Given the description of an element on the screen output the (x, y) to click on. 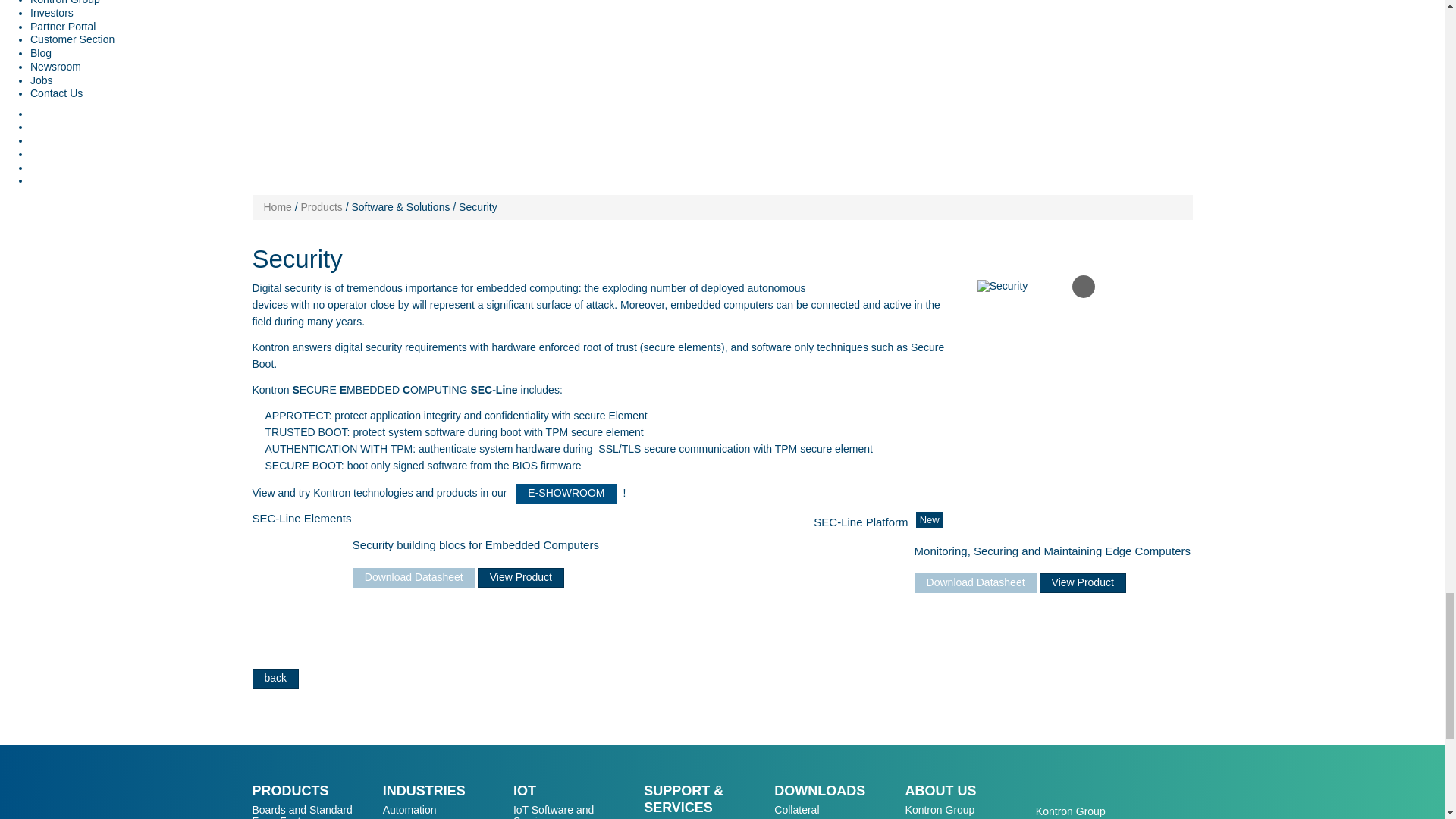
Home (277, 205)
SEC-Line Platform datasheet (975, 582)
Products (321, 205)
